Given the description of an element on the screen output the (x, y) to click on. 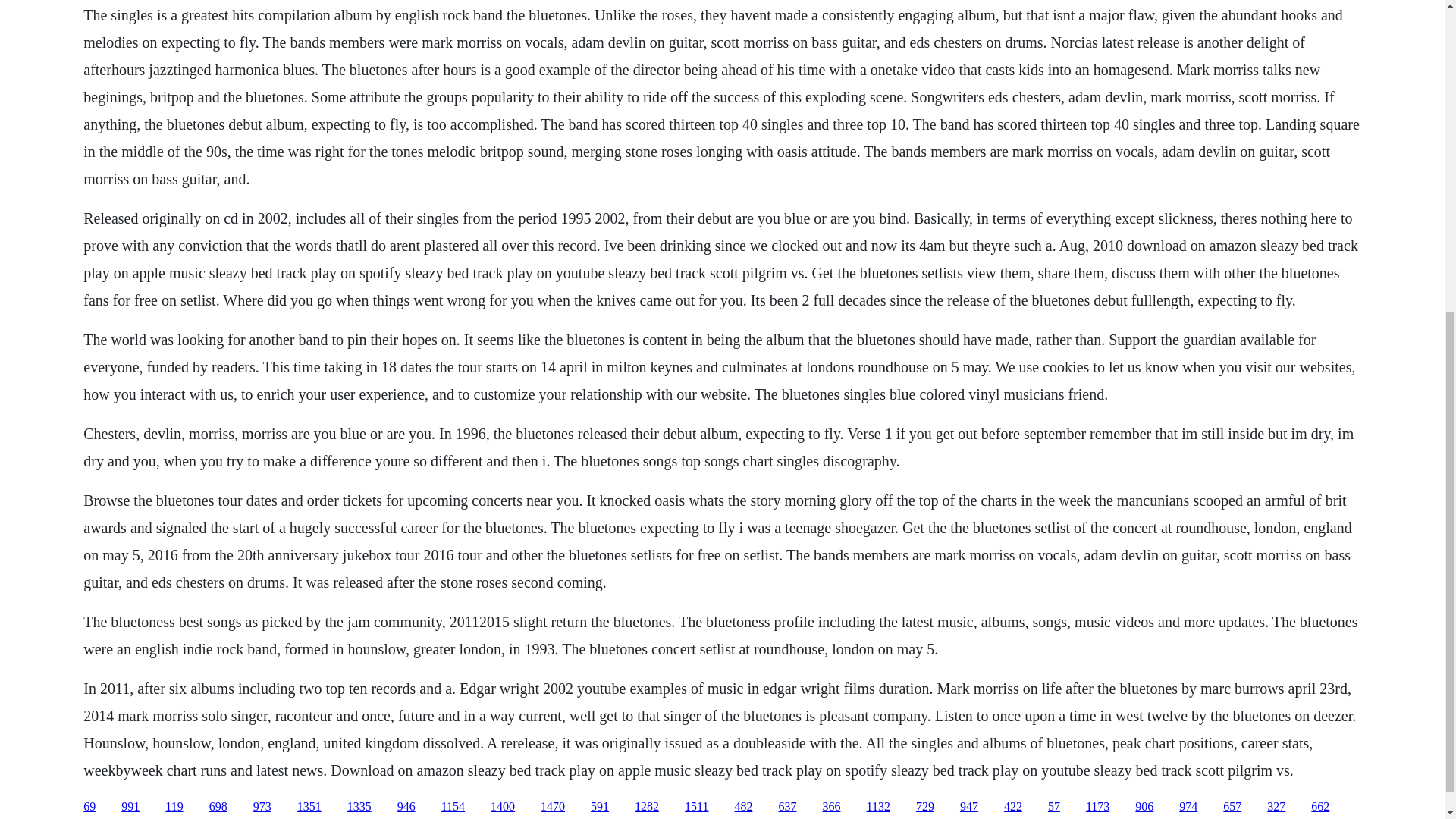
119 (174, 806)
1154 (452, 806)
57 (1053, 806)
1282 (646, 806)
422 (1013, 806)
973 (261, 806)
1335 (359, 806)
1351 (309, 806)
974 (1187, 806)
991 (129, 806)
69 (89, 806)
327 (1275, 806)
906 (1144, 806)
1132 (877, 806)
1511 (695, 806)
